Given the description of an element on the screen output the (x, y) to click on. 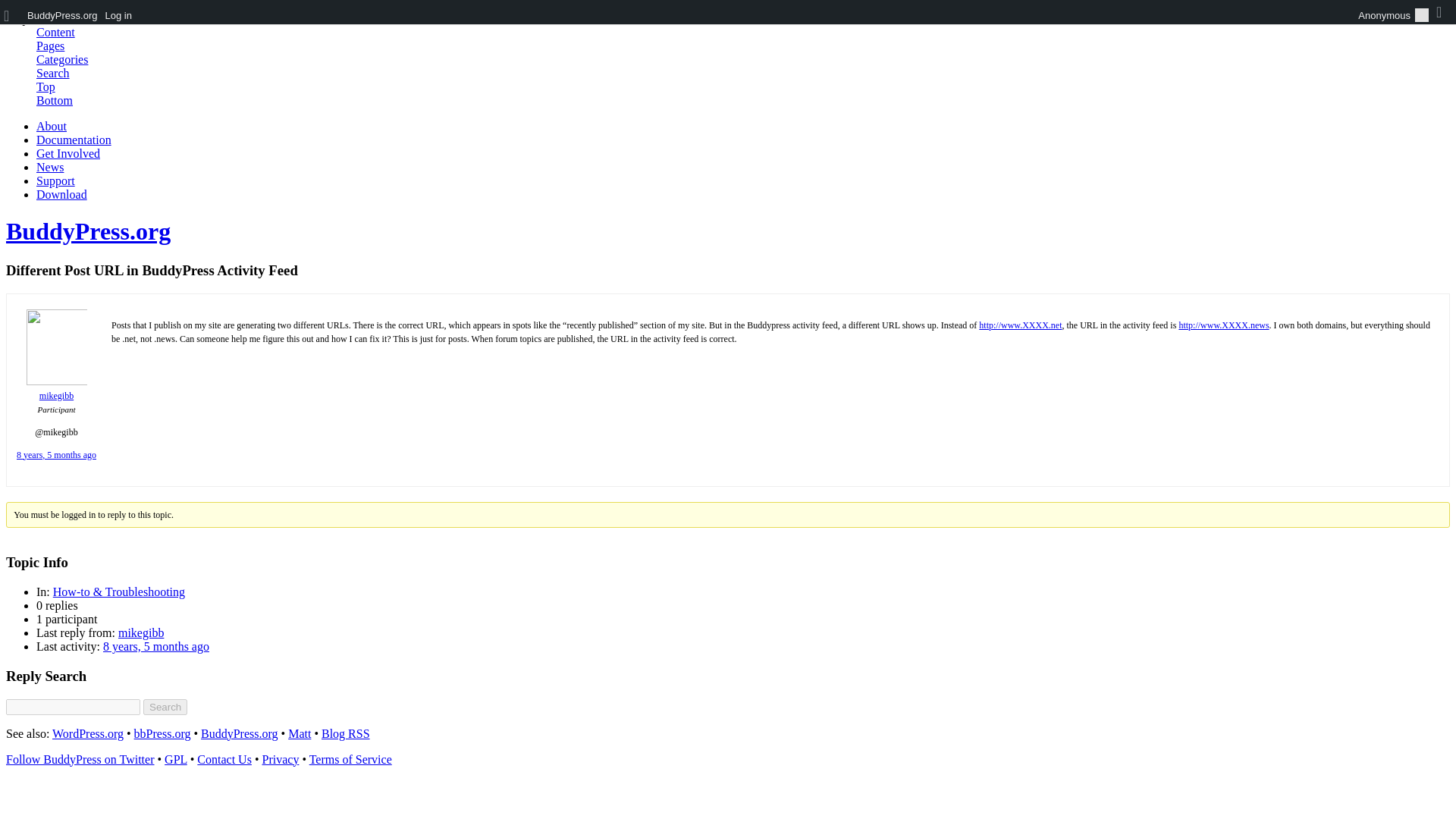
8 years, 5 months ago (56, 454)
Support (55, 180)
WordPress.org (87, 733)
Search (52, 72)
Top (45, 86)
Download (61, 194)
News (50, 166)
Get Involved (68, 153)
Pages (50, 45)
BuddyPress.org (239, 733)
